Given the description of an element on the screen output the (x, y) to click on. 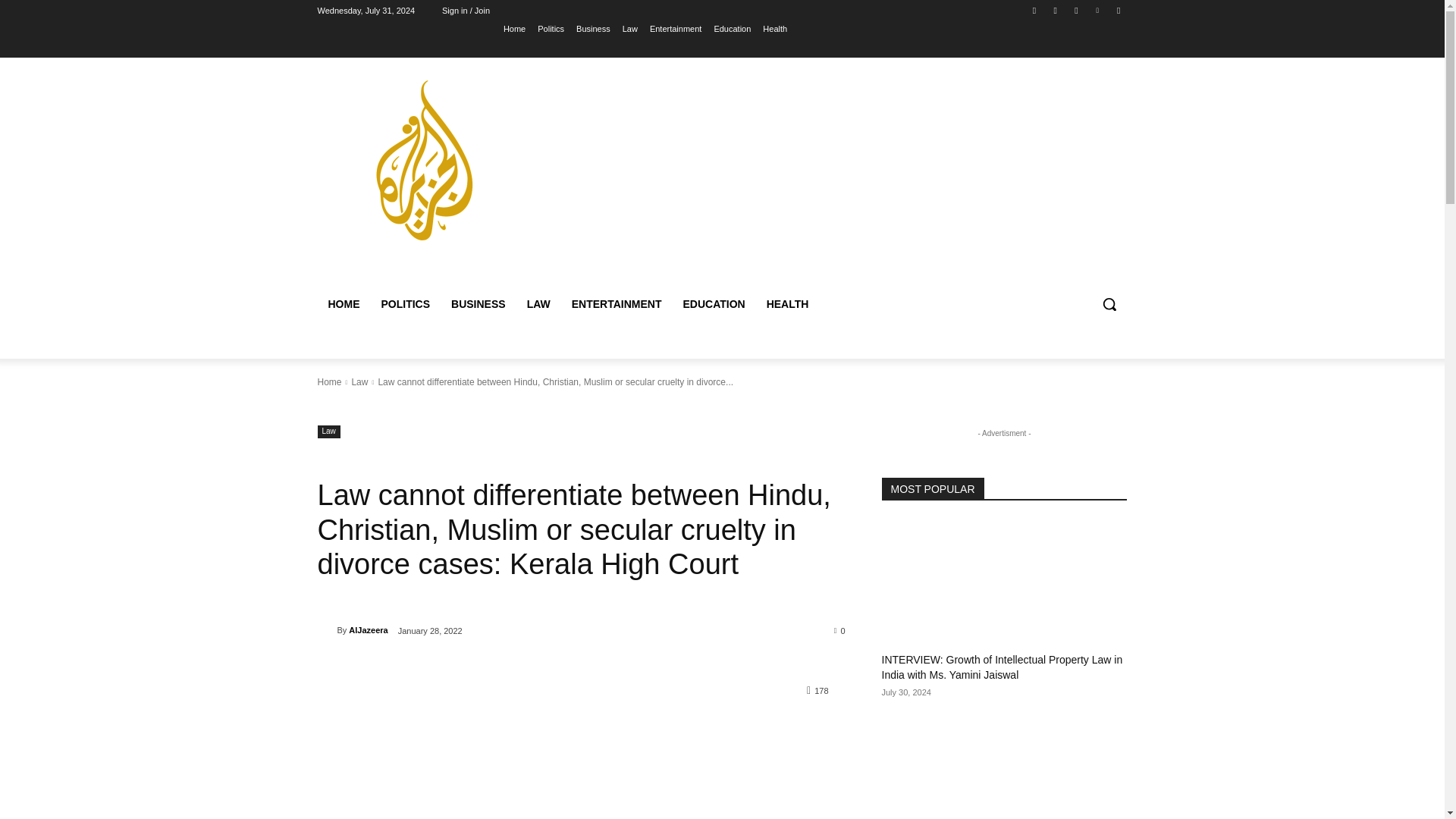
HEALTH (787, 303)
Education (732, 28)
ENTERTAINMENT (616, 303)
Home (514, 28)
Law (328, 431)
0 (839, 629)
Home (328, 381)
POLITICS (405, 303)
Vimeo (1097, 9)
Law (359, 381)
Entertainment (675, 28)
Instagram (1055, 9)
EDUCATION (713, 303)
Politics (550, 28)
Youtube (1117, 9)
